Given the description of an element on the screen output the (x, y) to click on. 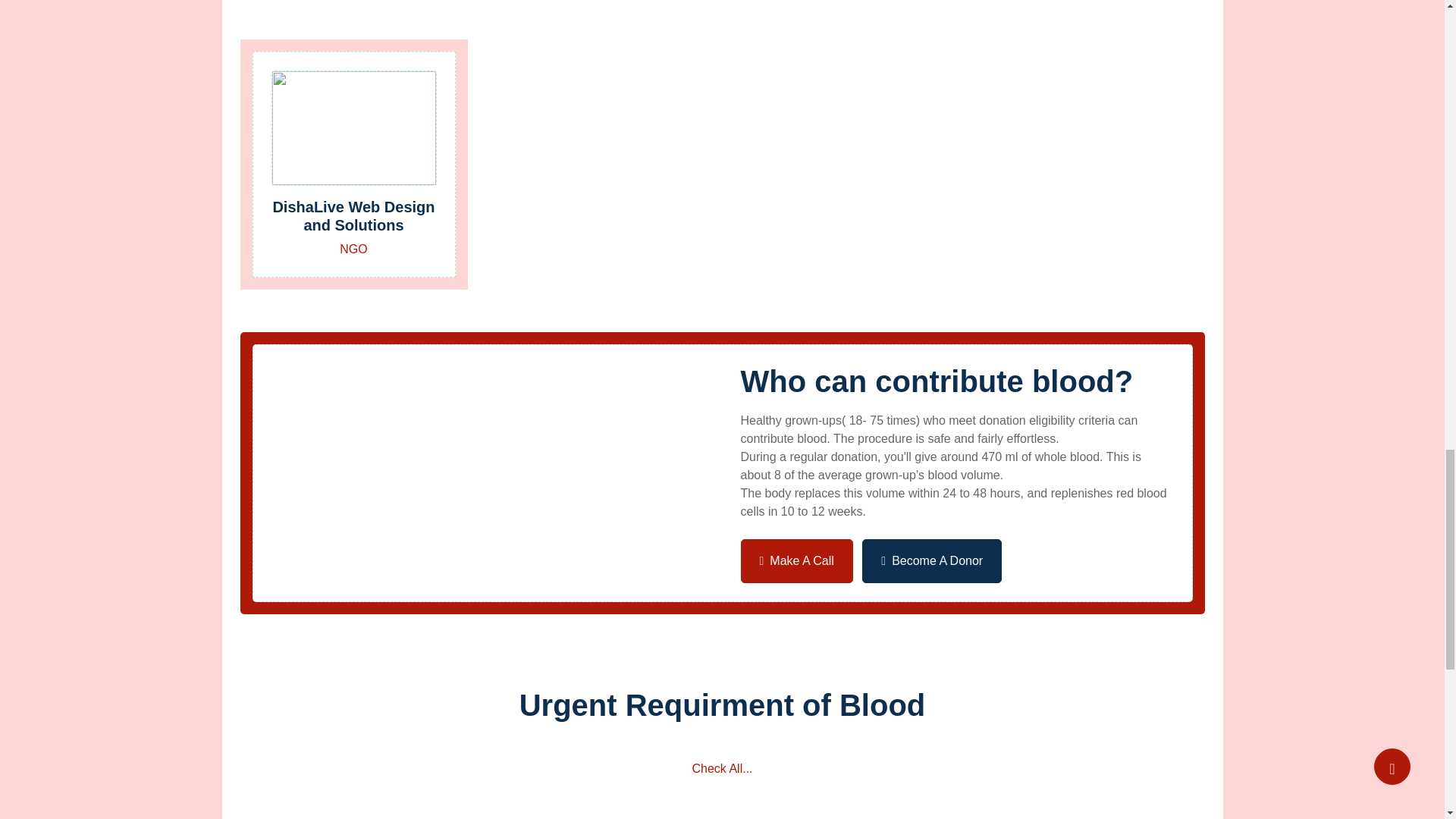
Check All... (721, 769)
Become A Donor (931, 560)
Make A Call (795, 560)
